Given the description of an element on the screen output the (x, y) to click on. 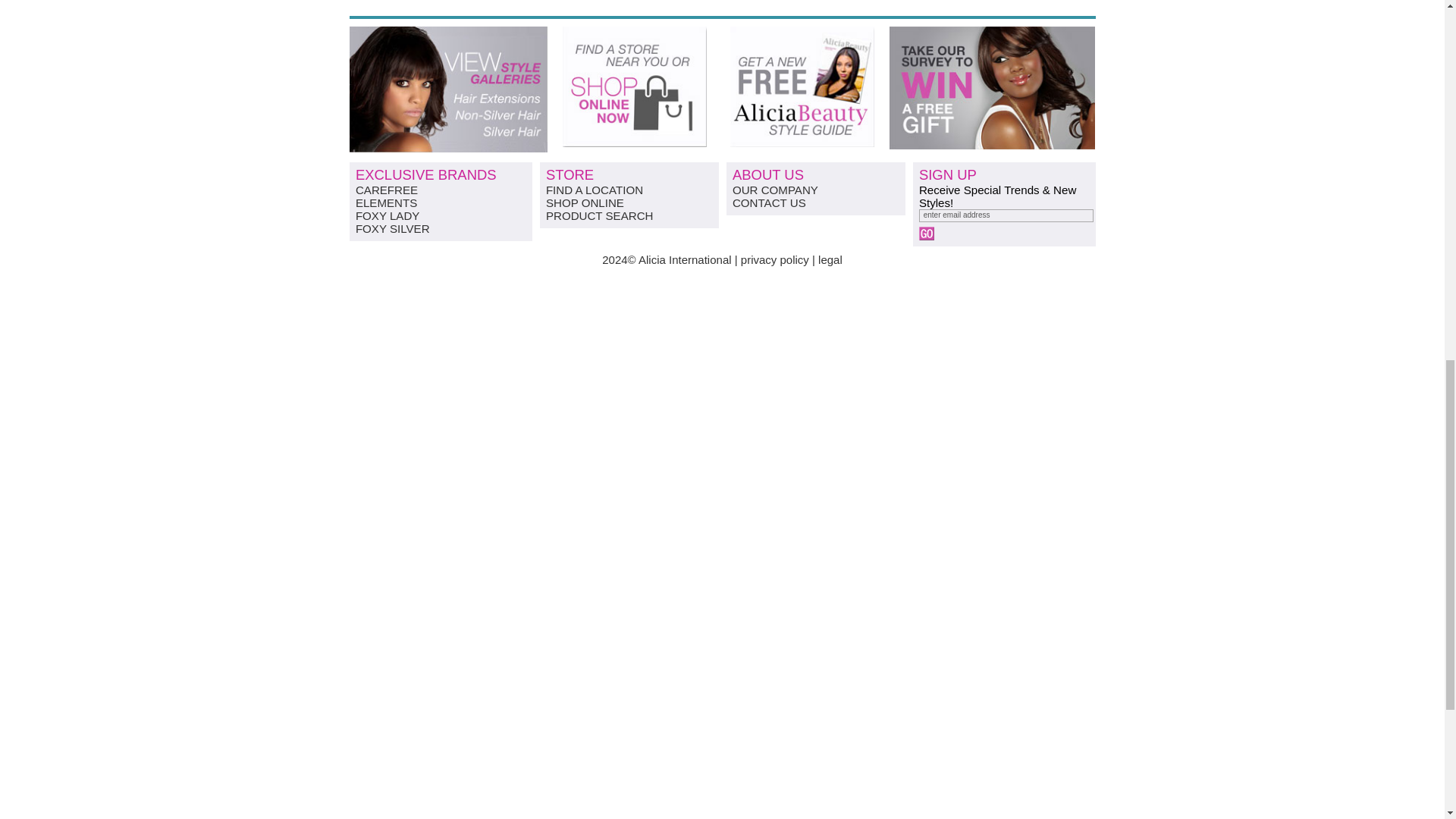
 enter email address (1005, 215)
GO (926, 233)
